Given the description of an element on the screen output the (x, y) to click on. 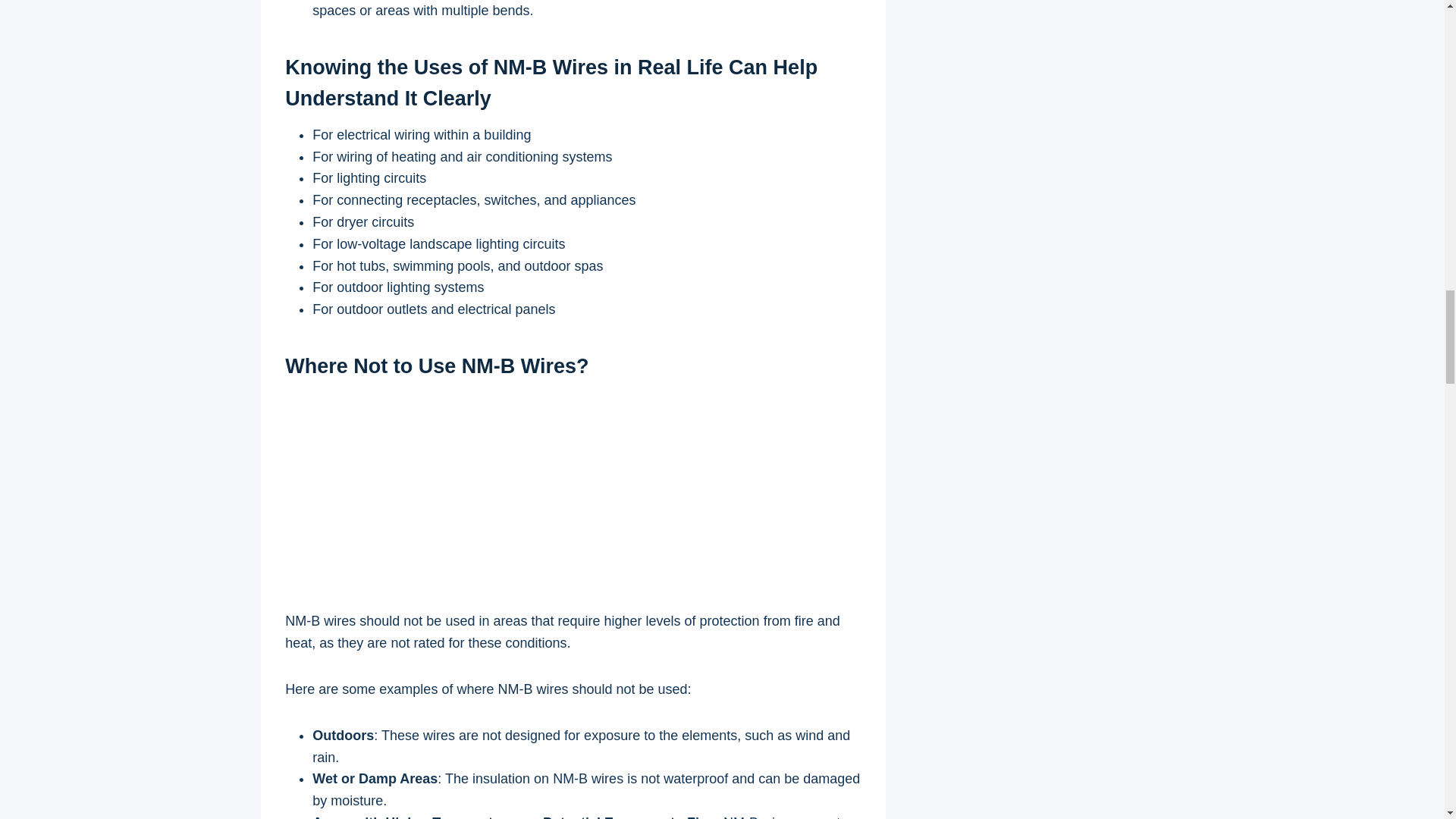
Advertisement (573, 498)
